Given the description of an element on the screen output the (x, y) to click on. 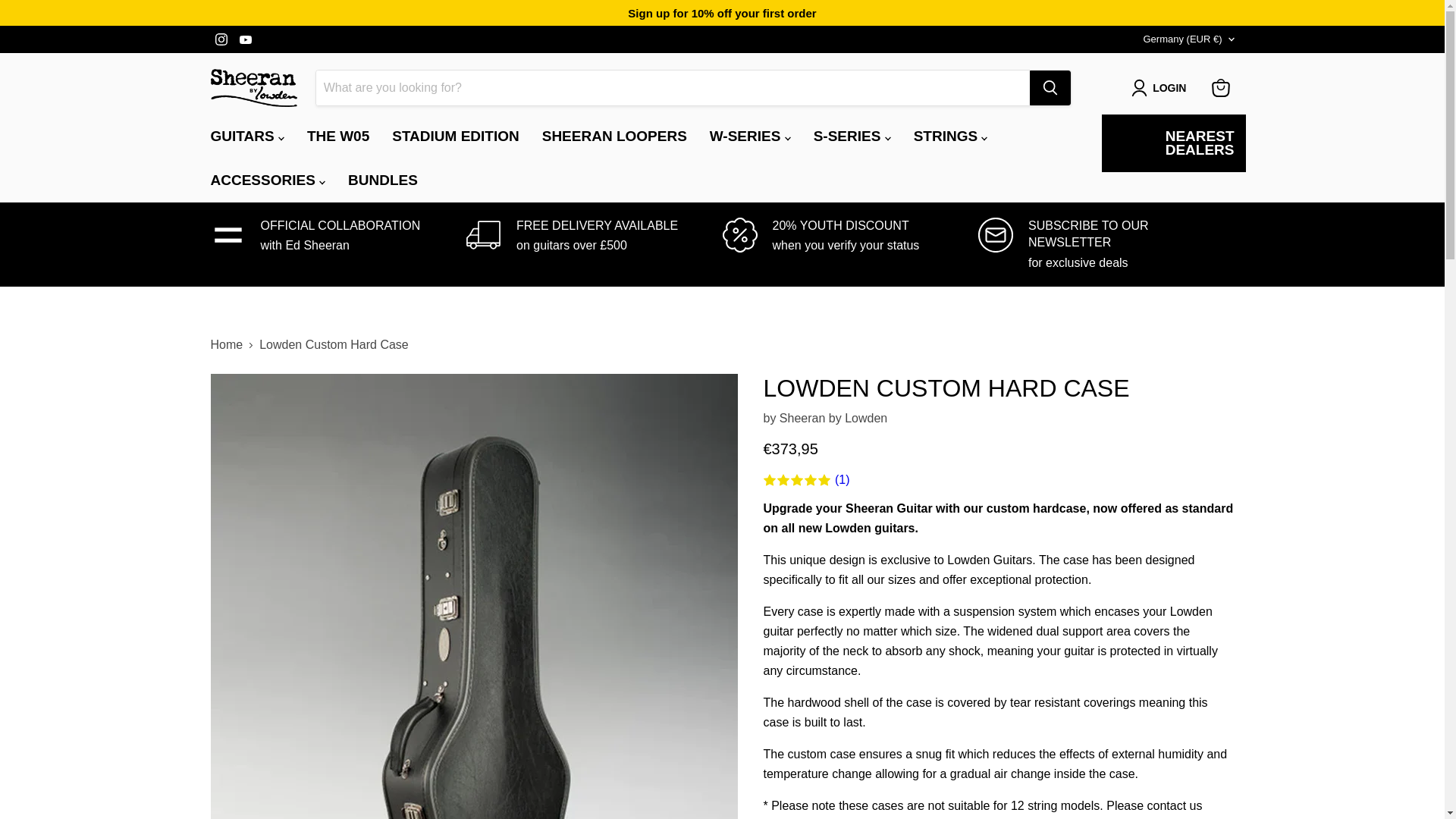
Find us on Instagram (221, 38)
Sheeran by Lowden (832, 418)
YouTube (245, 38)
Find us on YouTube (245, 38)
Instagram (221, 38)
